Given the description of an element on the screen output the (x, y) to click on. 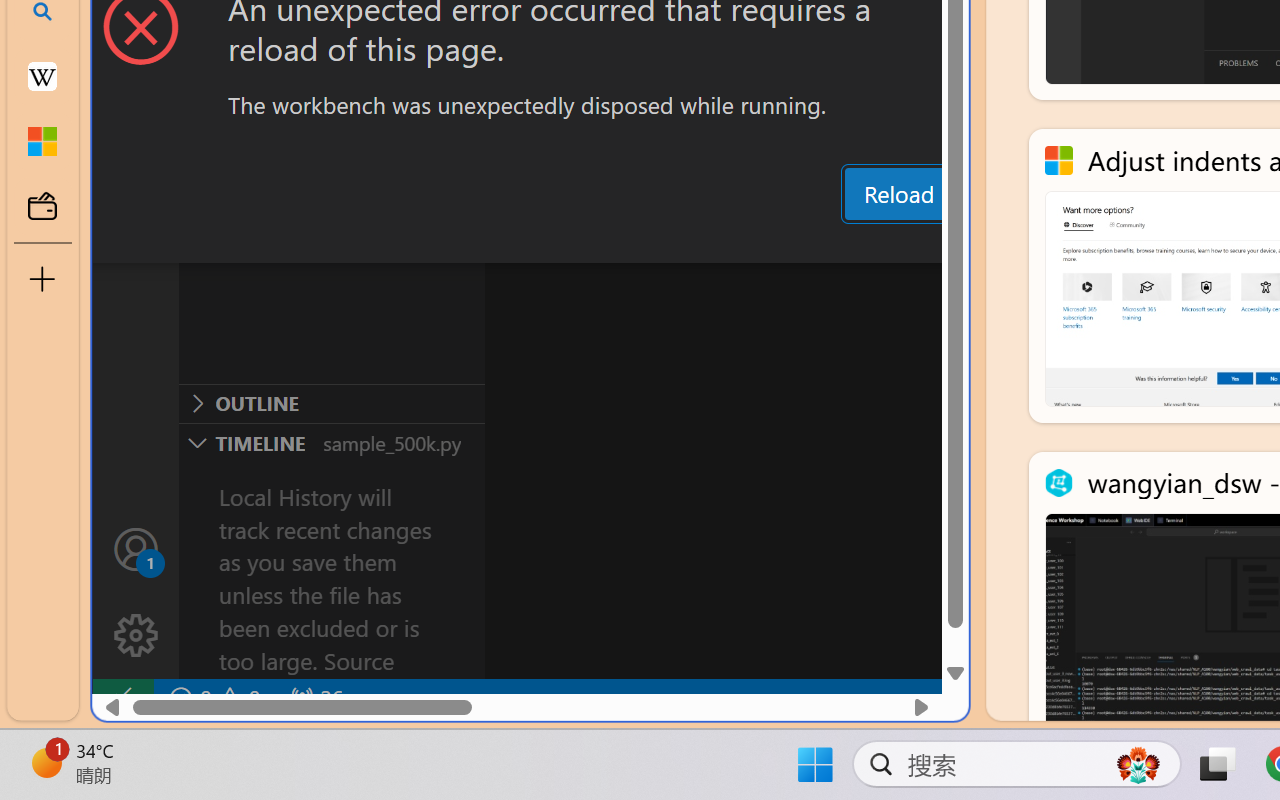
Problems (Ctrl+Shift+M) (567, 243)
No Problems (212, 698)
remote (122, 698)
Earth - Wikipedia (42, 75)
